Given the description of an element on the screen output the (x, y) to click on. 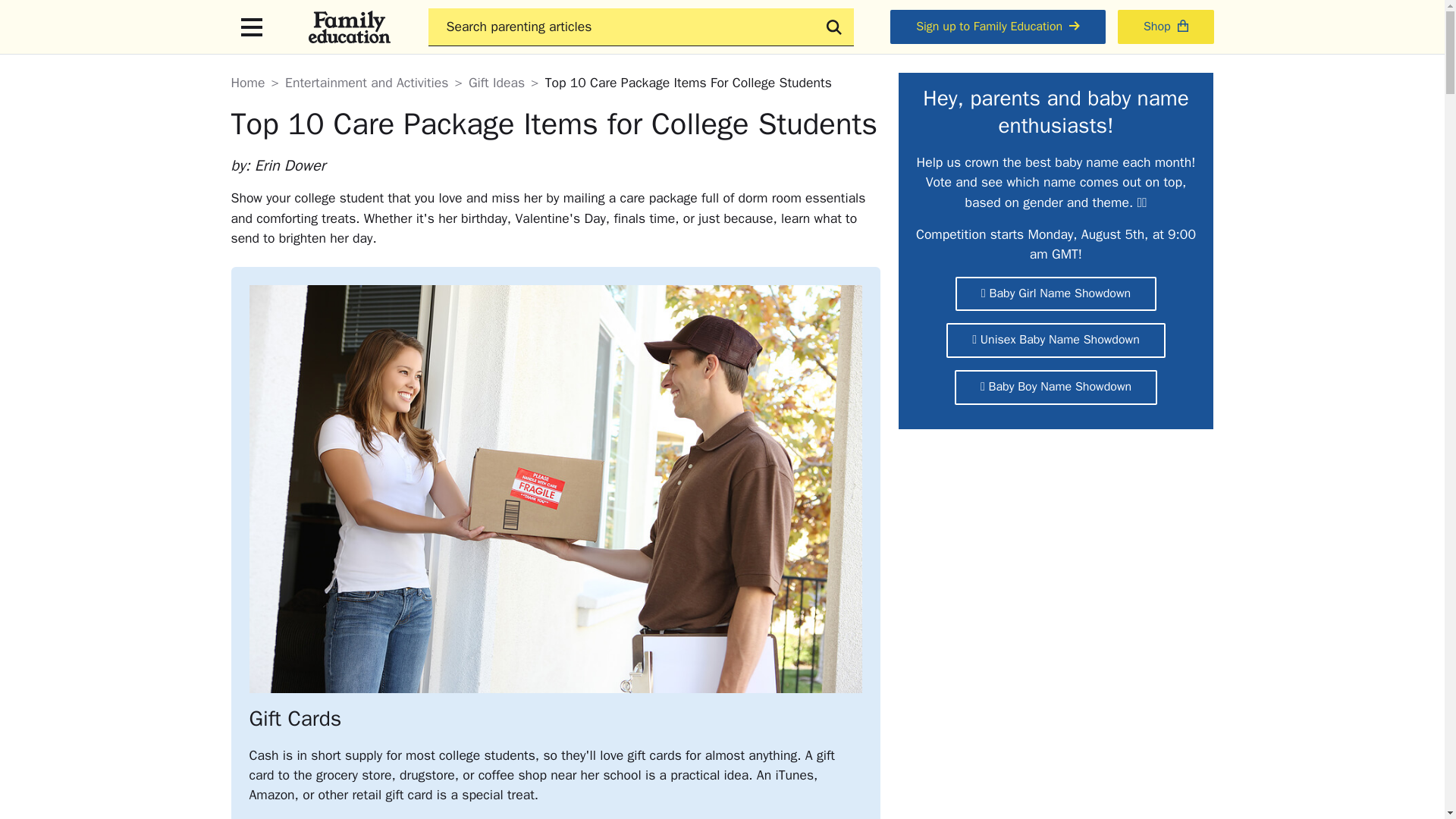
Sign up to Family Education (997, 27)
Shop (1166, 27)
